Given the description of an element on the screen output the (x, y) to click on. 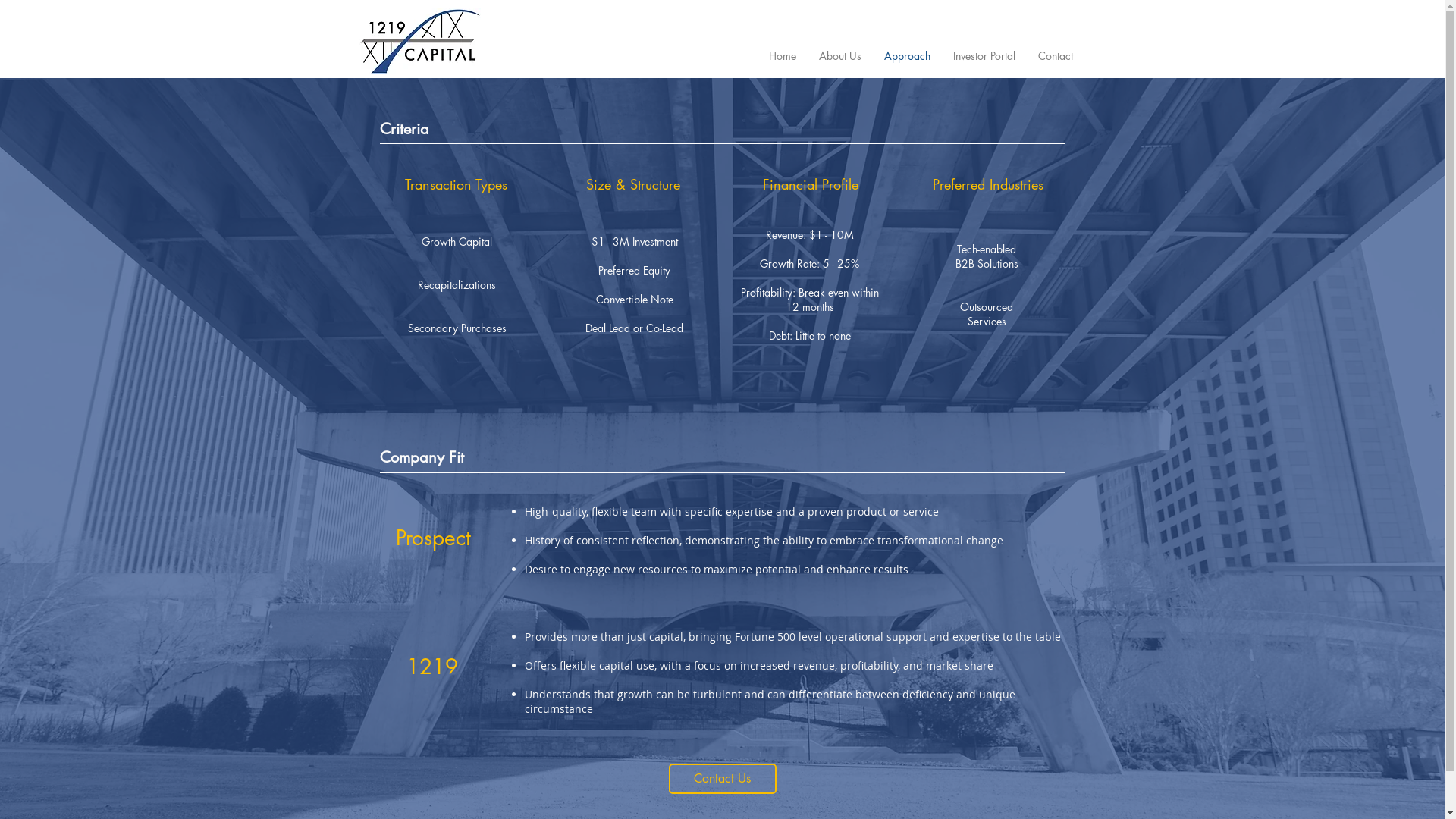
Contact Element type: text (1055, 55)
Approach Element type: text (906, 55)
Home Element type: text (781, 55)
Investor Portal Element type: text (983, 55)
About Us Element type: text (839, 55)
Contact Us Element type: text (722, 778)
